Given the description of an element on the screen output the (x, y) to click on. 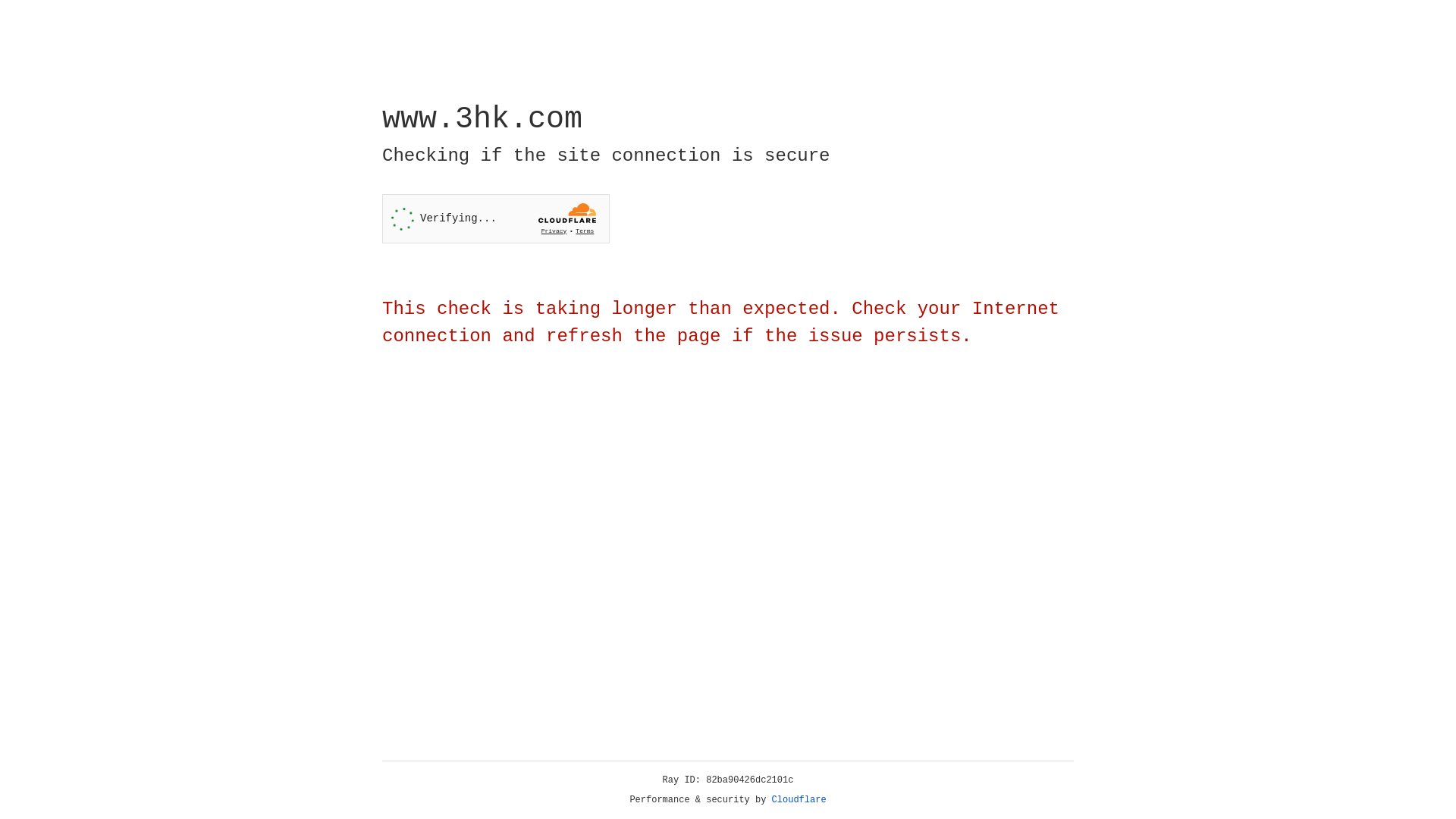
Widget containing a Cloudflare security challenge Element type: hover (495, 218)
Cloudflare Element type: text (798, 799)
